Given the description of an element on the screen output the (x, y) to click on. 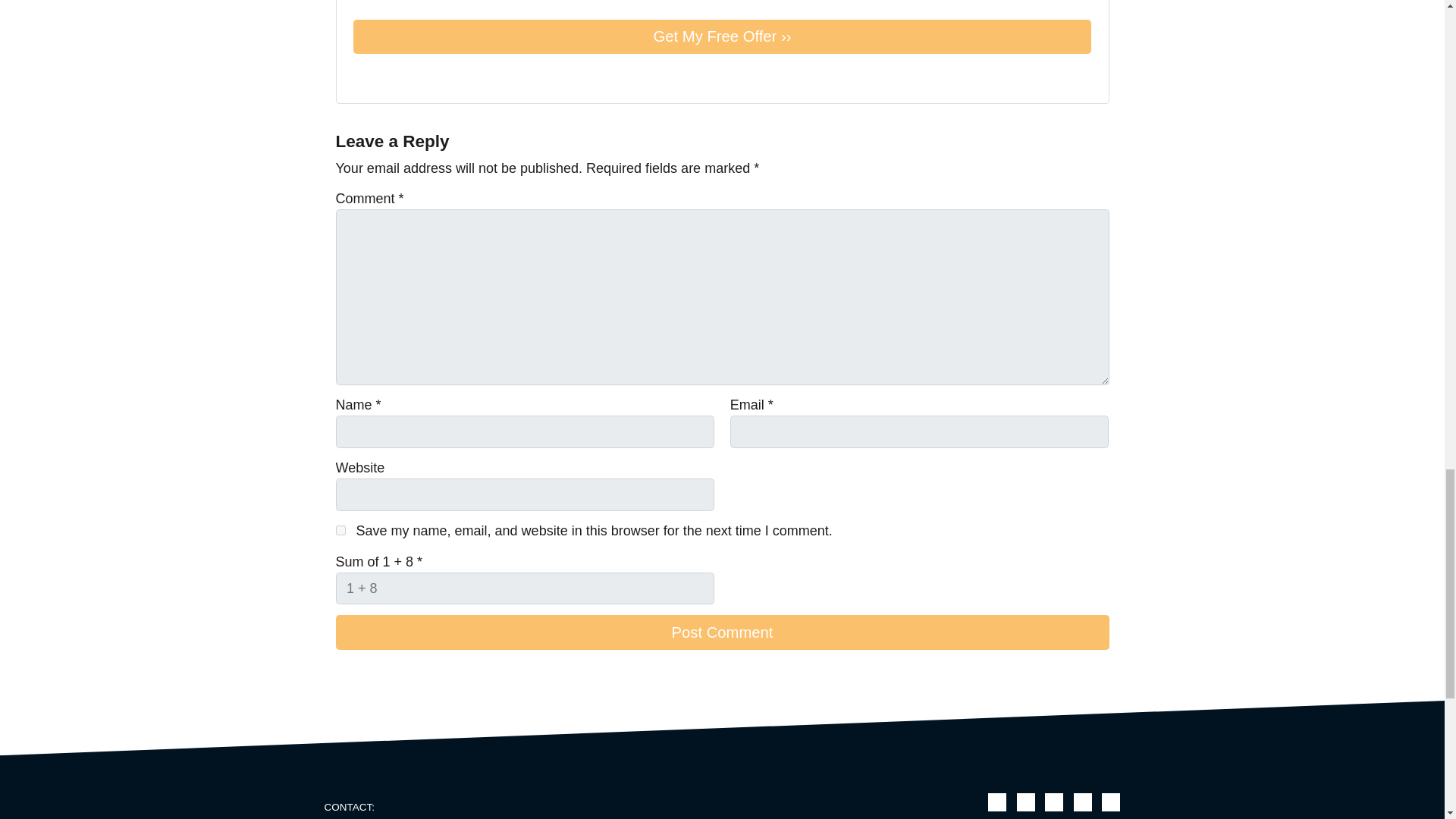
Instagram (1110, 802)
Post Comment (721, 632)
YouTube (404, 76)
yes (339, 530)
LinkedIn (425, 76)
Facebook (1025, 802)
YouTube (1053, 802)
LinkedIn (1083, 802)
Instagram (447, 76)
Twitter (362, 76)
